Given the description of an element on the screen output the (x, y) to click on. 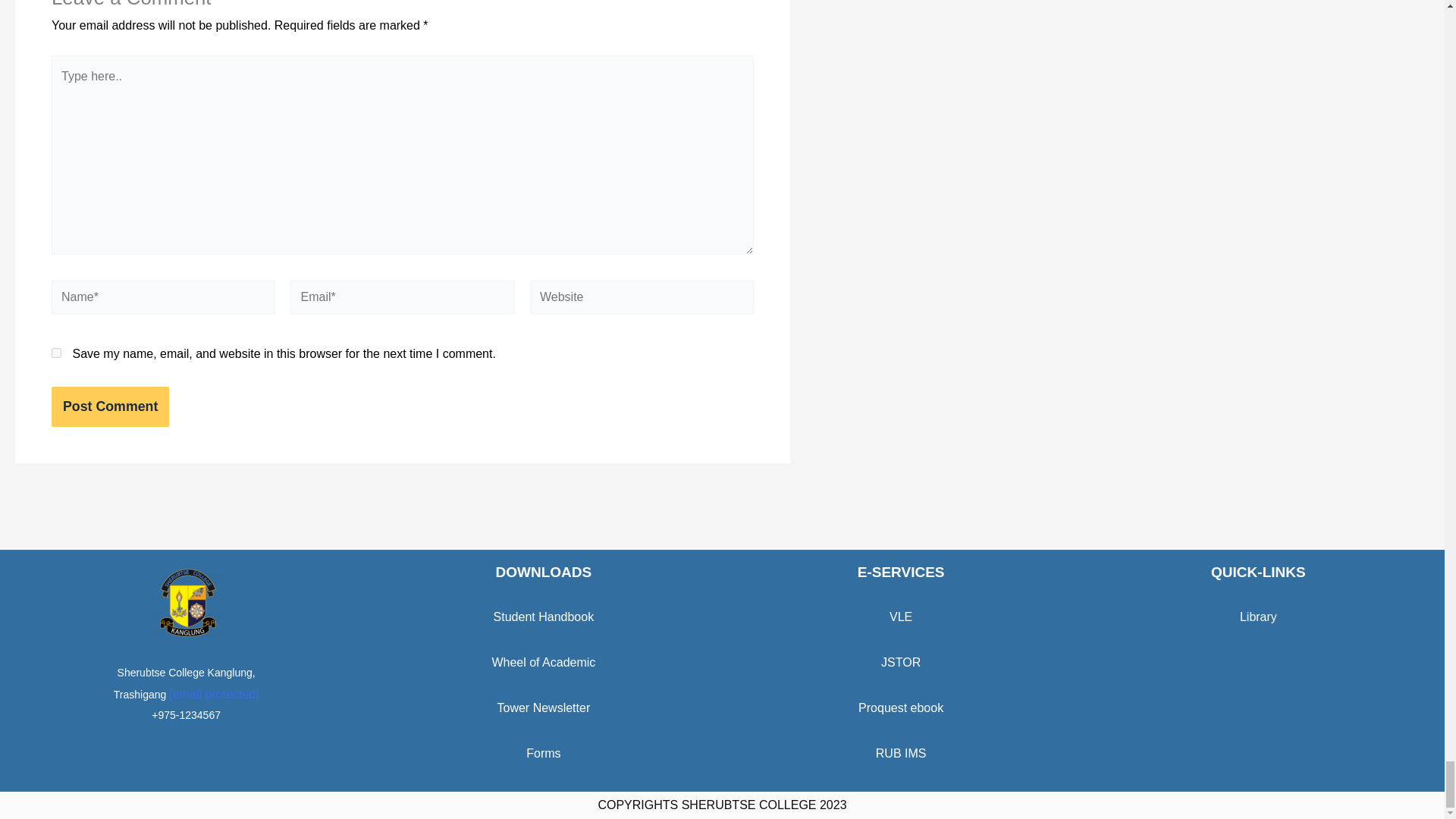
yes (55, 352)
Post Comment (109, 406)
